Given the description of an element on the screen output the (x, y) to click on. 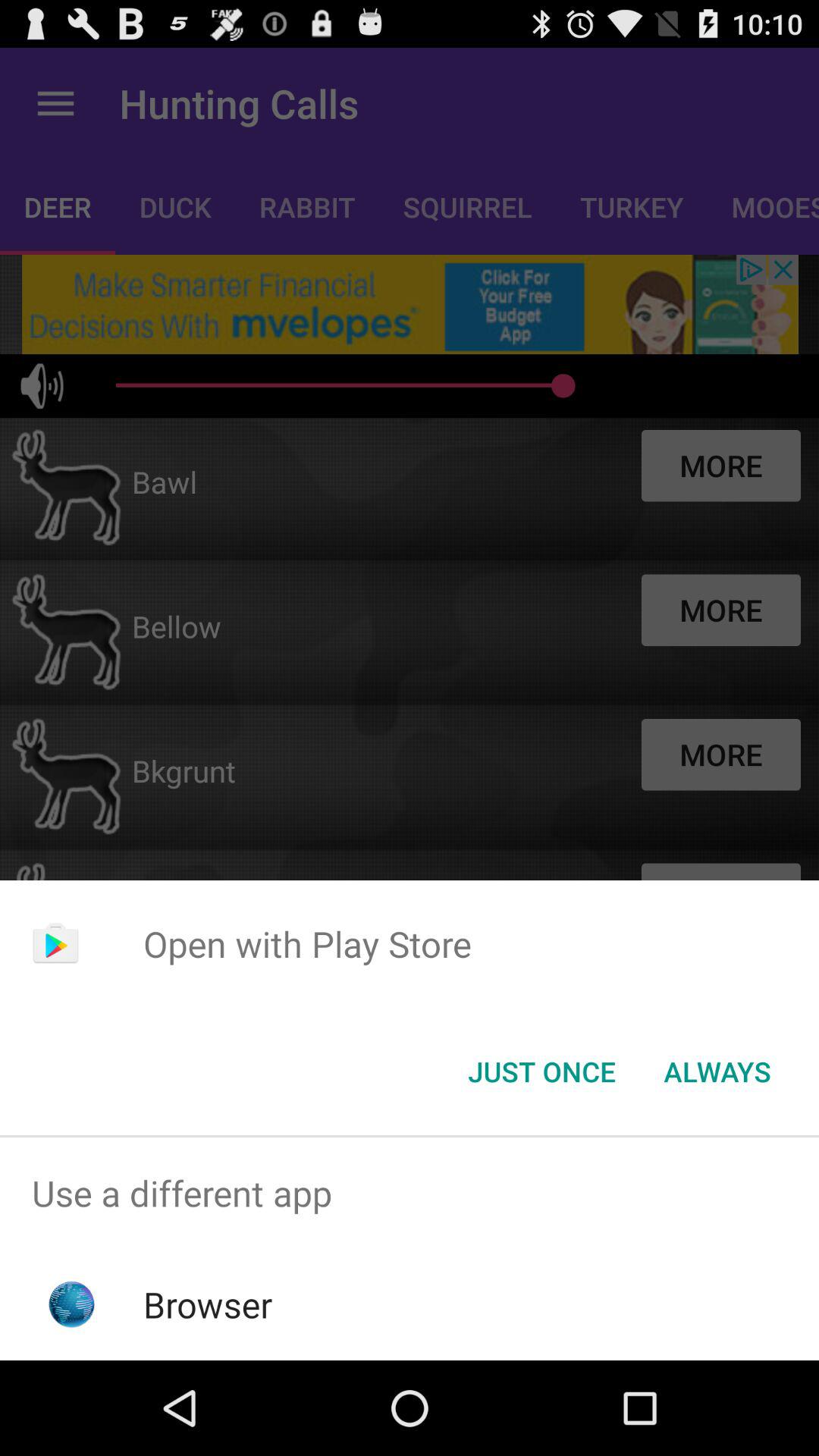
flip to always item (717, 1071)
